Given the description of an element on the screen output the (x, y) to click on. 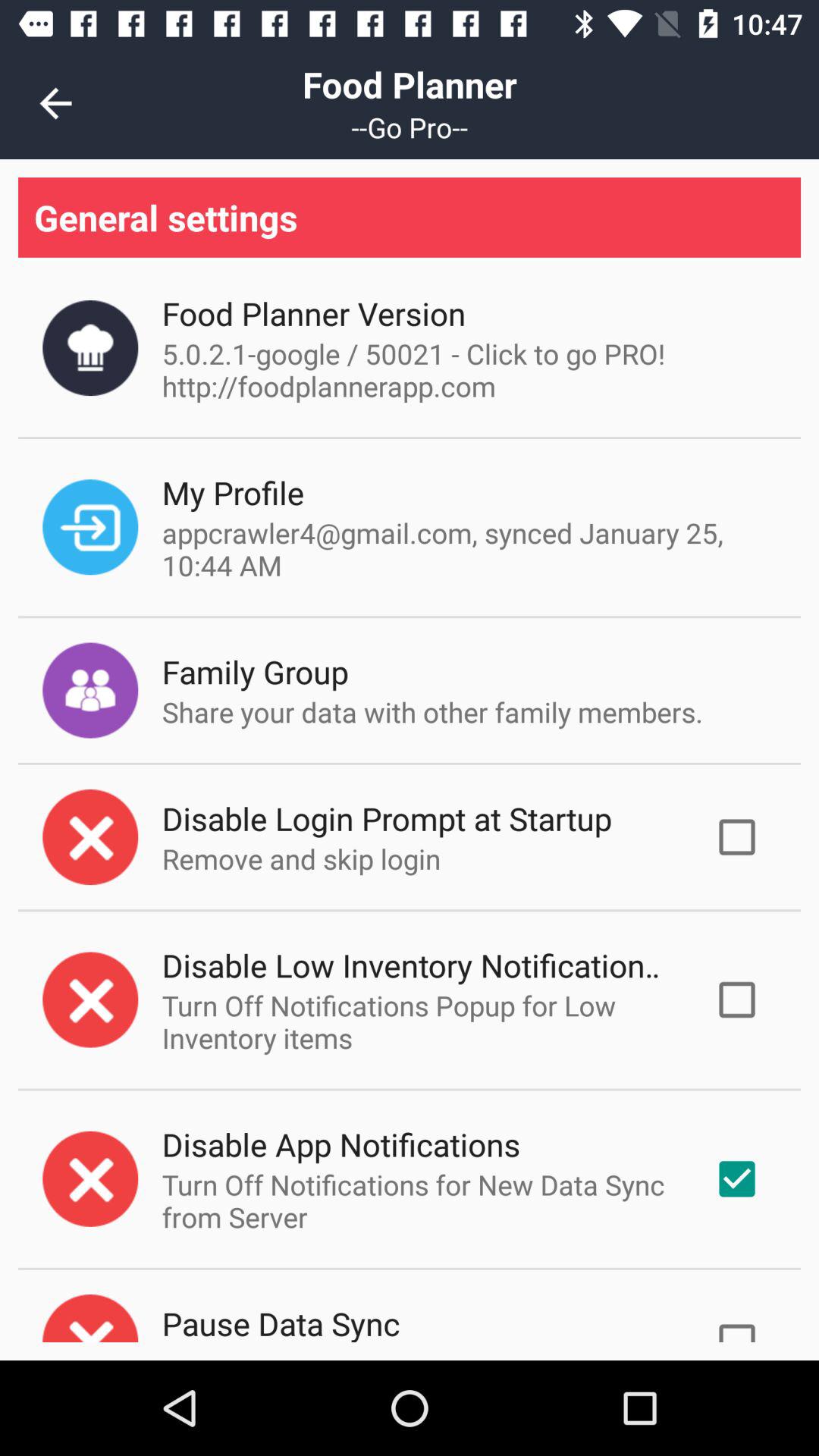
open general settings item (409, 217)
